Given the description of an element on the screen output the (x, y) to click on. 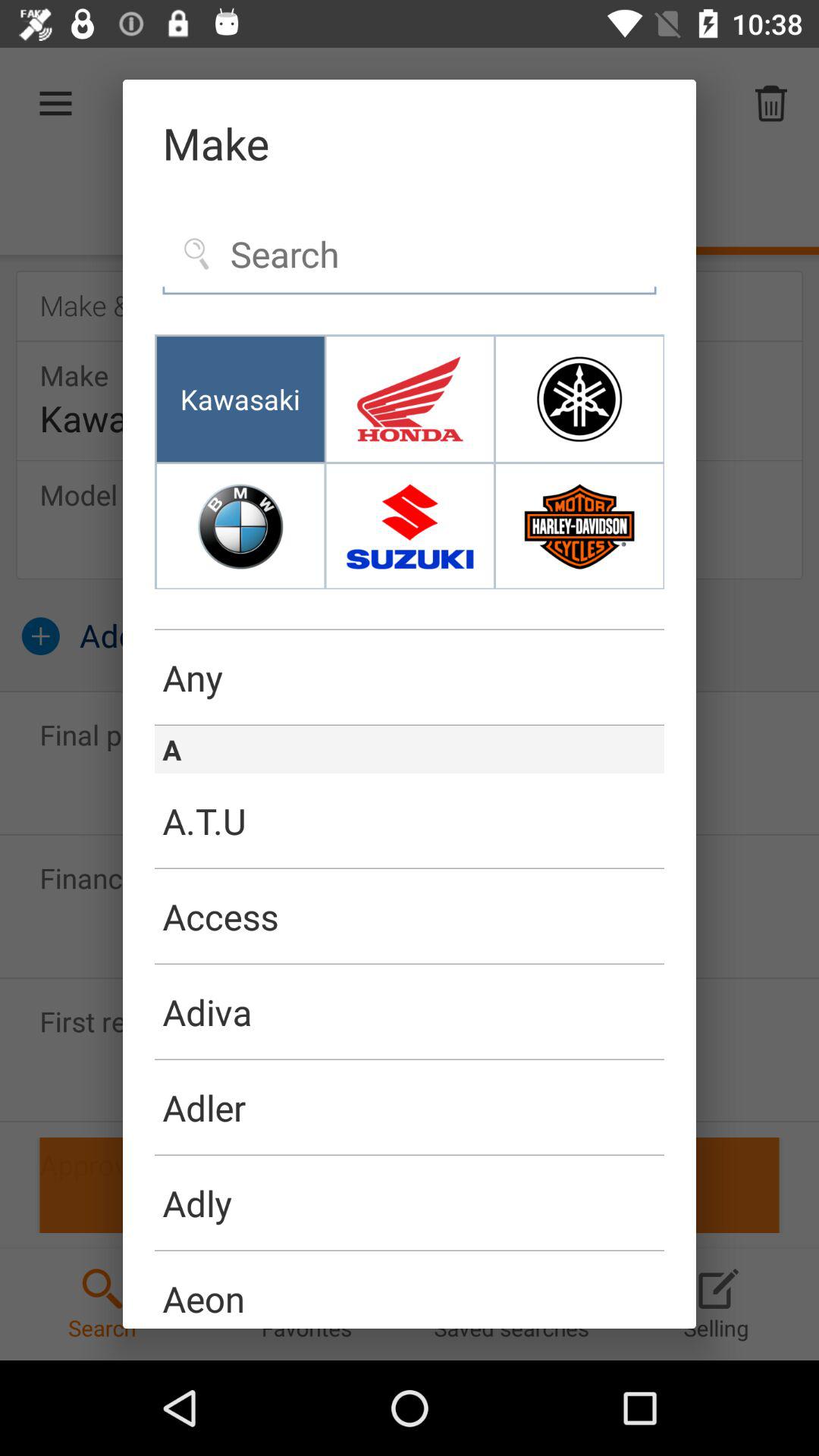
click the icon below adler item (409, 1154)
